Given the description of an element on the screen output the (x, y) to click on. 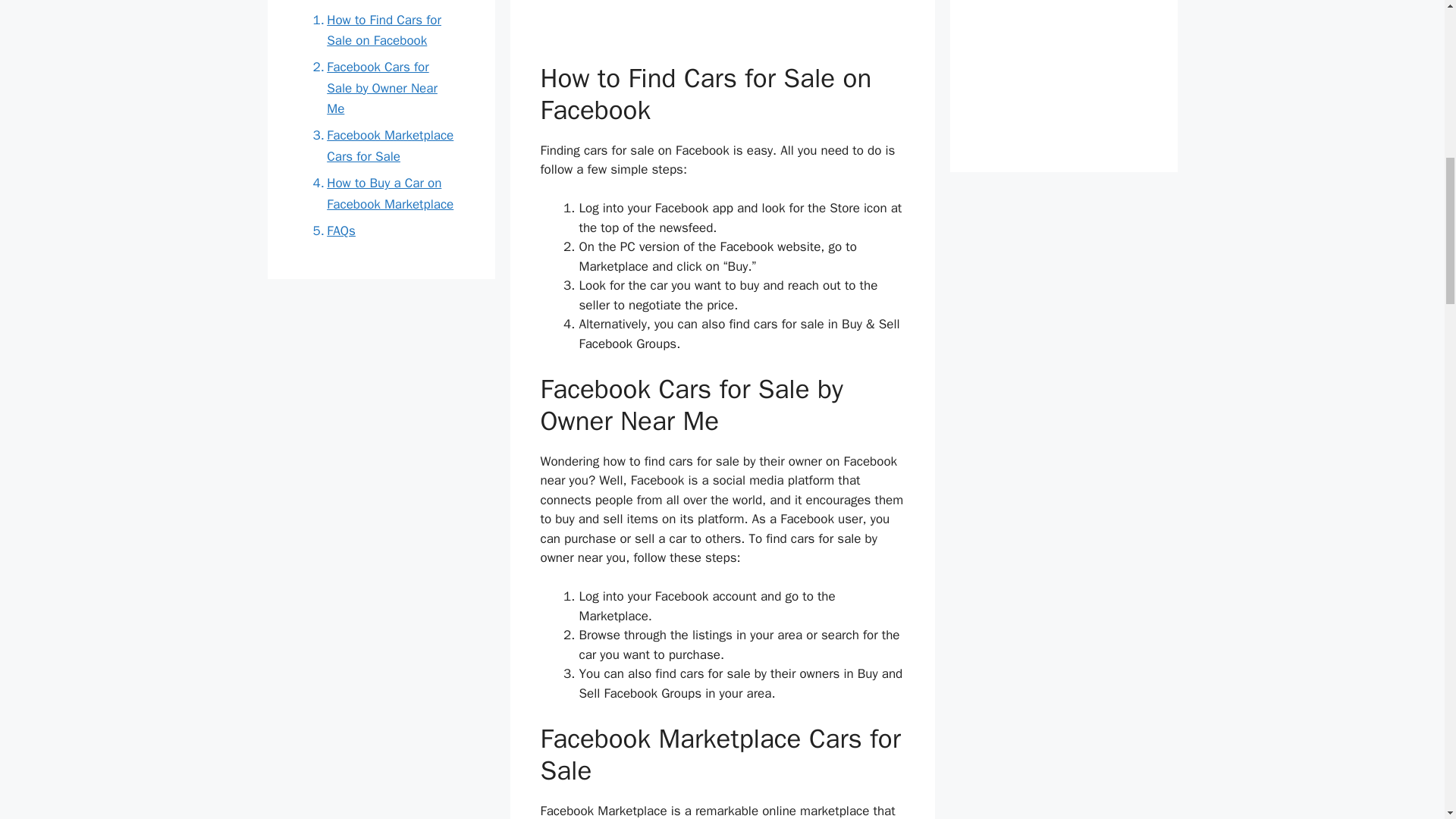
Facebook Cars for Sale by Owner Near Me (380, 87)
How to Buy a Car on Facebook Marketplace (380, 192)
How to Find Cars for Sale on Facebook (380, 29)
Scroll back to top (1406, 720)
FAQs (329, 230)
Facebook Marketplace Cars for Sale (380, 145)
